Given the description of an element on the screen output the (x, y) to click on. 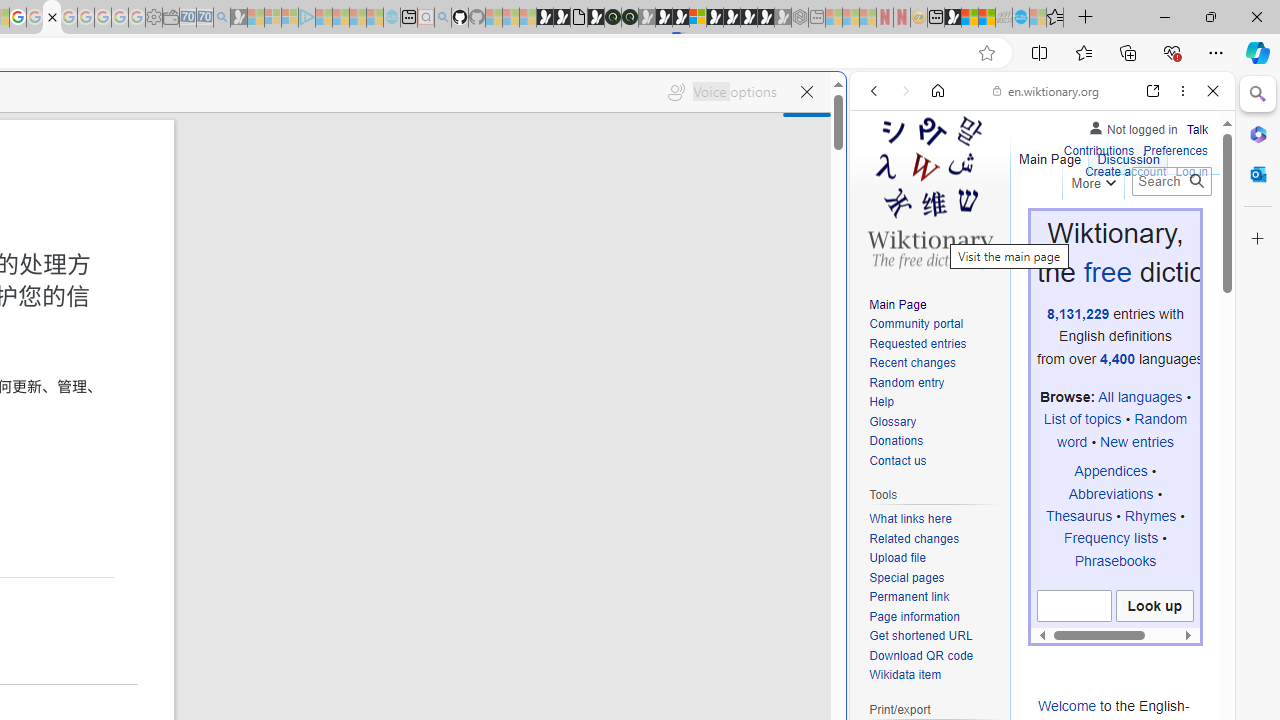
Abbreviations (1110, 493)
Community portal (934, 324)
Special pages (934, 578)
New entries (1136, 441)
Recent changes (912, 362)
Create account (1125, 169)
All languages (1140, 397)
